Given the description of an element on the screen output the (x, y) to click on. 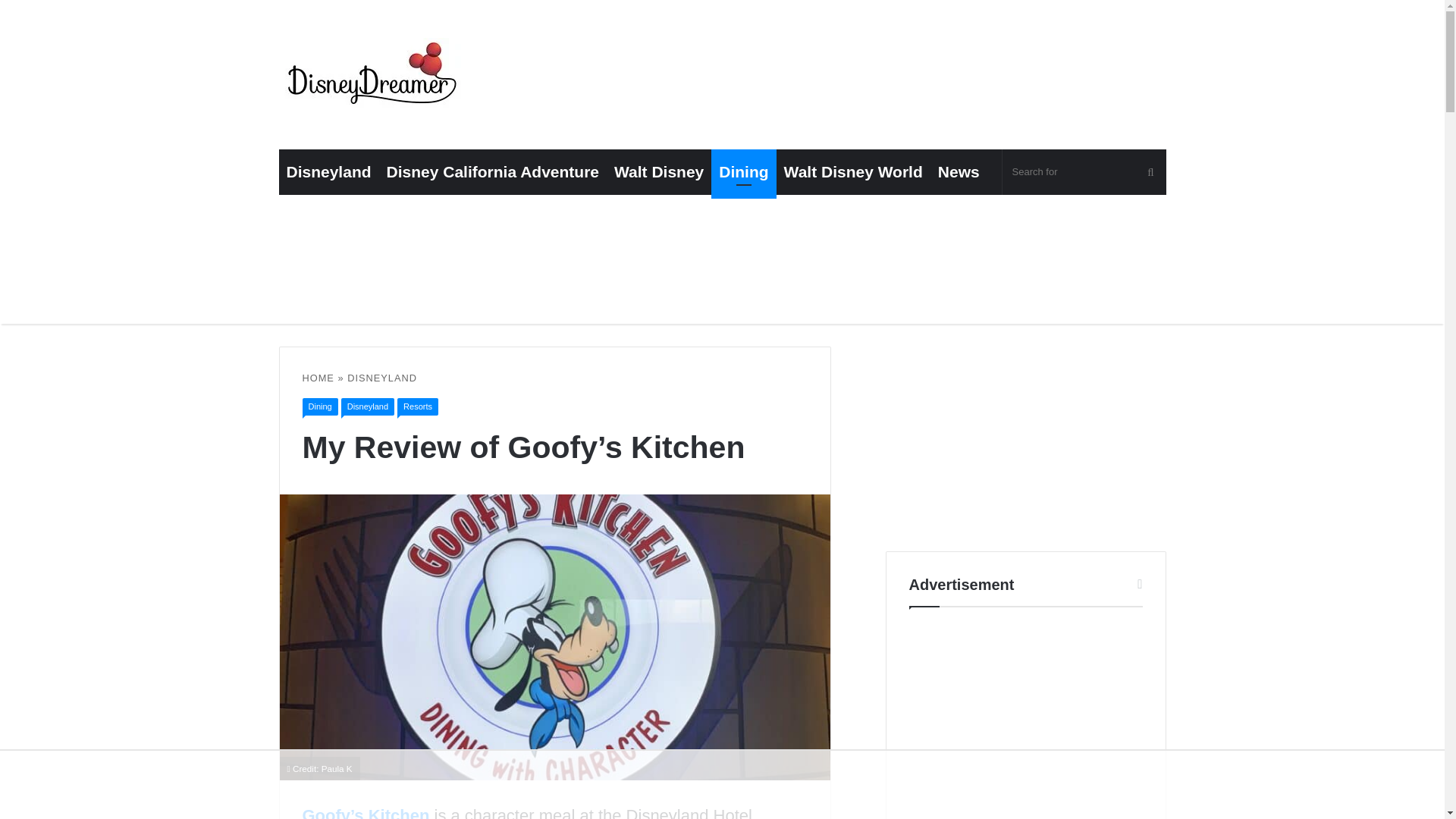
Dining (319, 406)
HOME (317, 378)
News (958, 171)
Dining (743, 171)
Search for (1084, 171)
Advertisement (1025, 724)
Resorts (417, 406)
Walt Disney World (853, 171)
Disneyland (367, 406)
DisneyDreamer.com (373, 77)
